Given the description of an element on the screen output the (x, y) to click on. 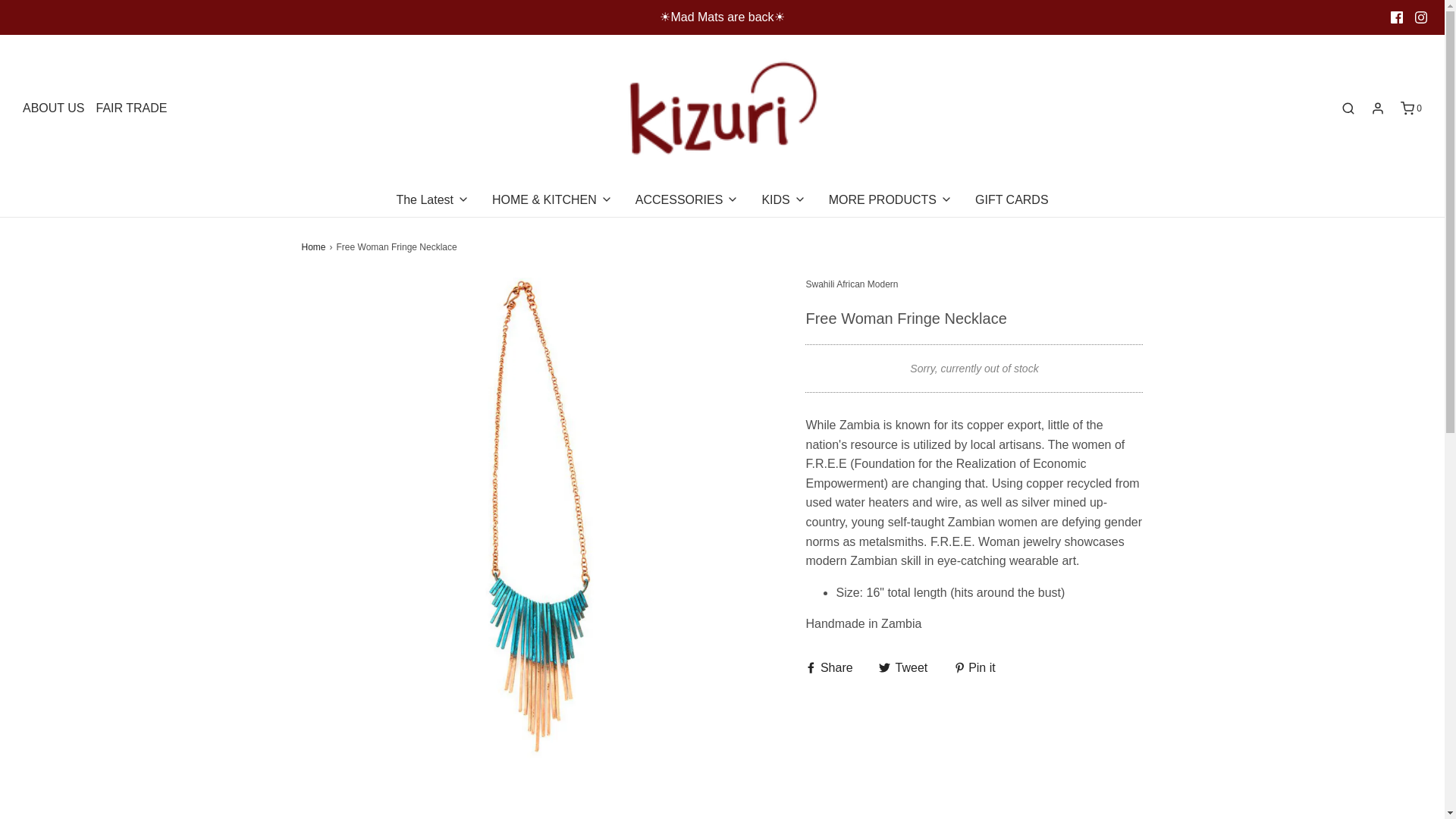
Search (1347, 108)
Back to the frontpage (315, 247)
Log in (1377, 108)
ABOUT US (53, 107)
Instagram icon (1420, 17)
Cart (1409, 108)
The Latest (432, 199)
Search (1423, 8)
Facebook icon (1396, 17)
Instagram icon (1420, 17)
0 (1409, 108)
Facebook icon (1396, 17)
ACCESSORIES (686, 199)
FAIR TRADE (131, 107)
